Given the description of an element on the screen output the (x, y) to click on. 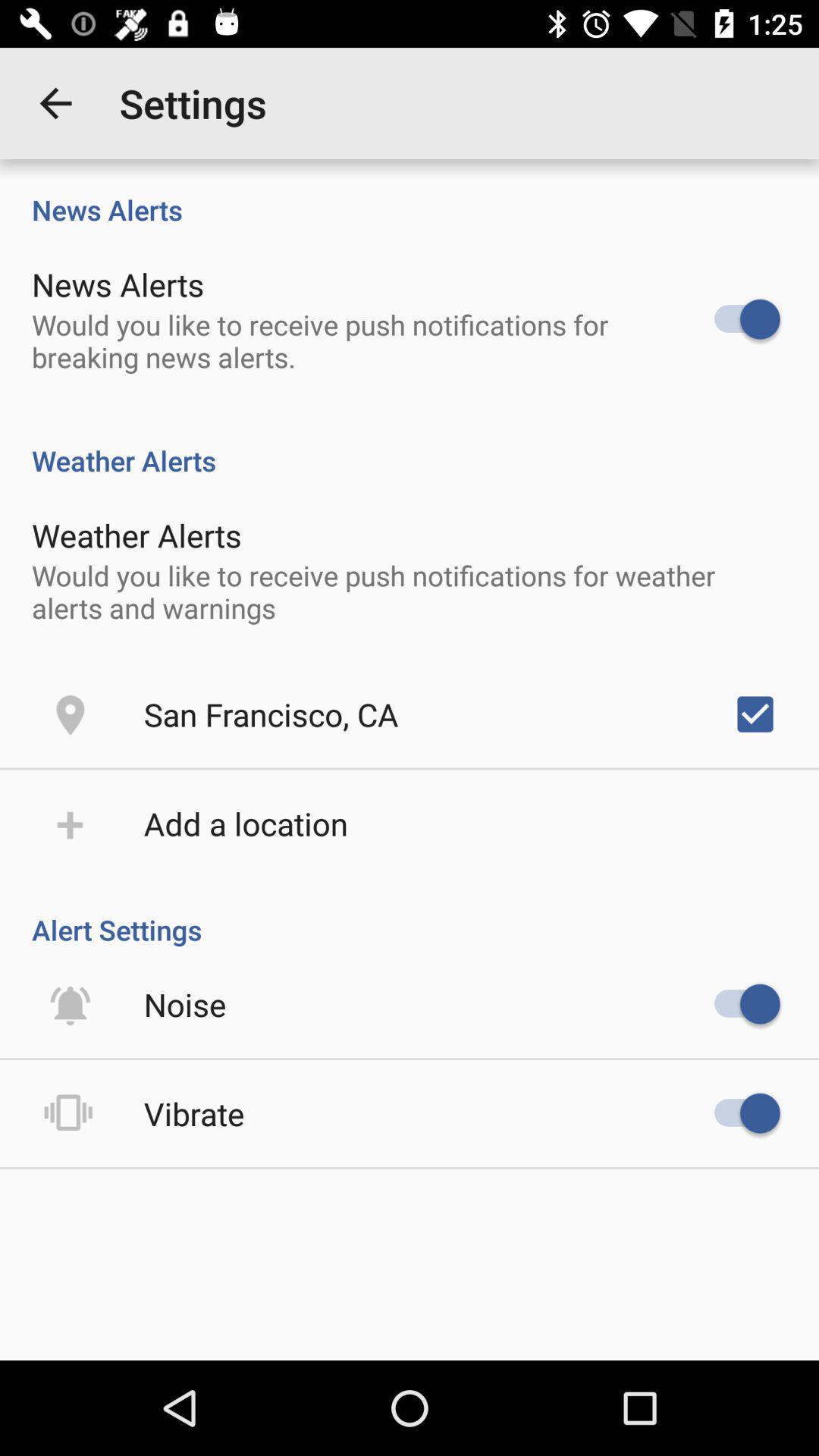
open icon below the would you like (270, 713)
